Given the description of an element on the screen output the (x, y) to click on. 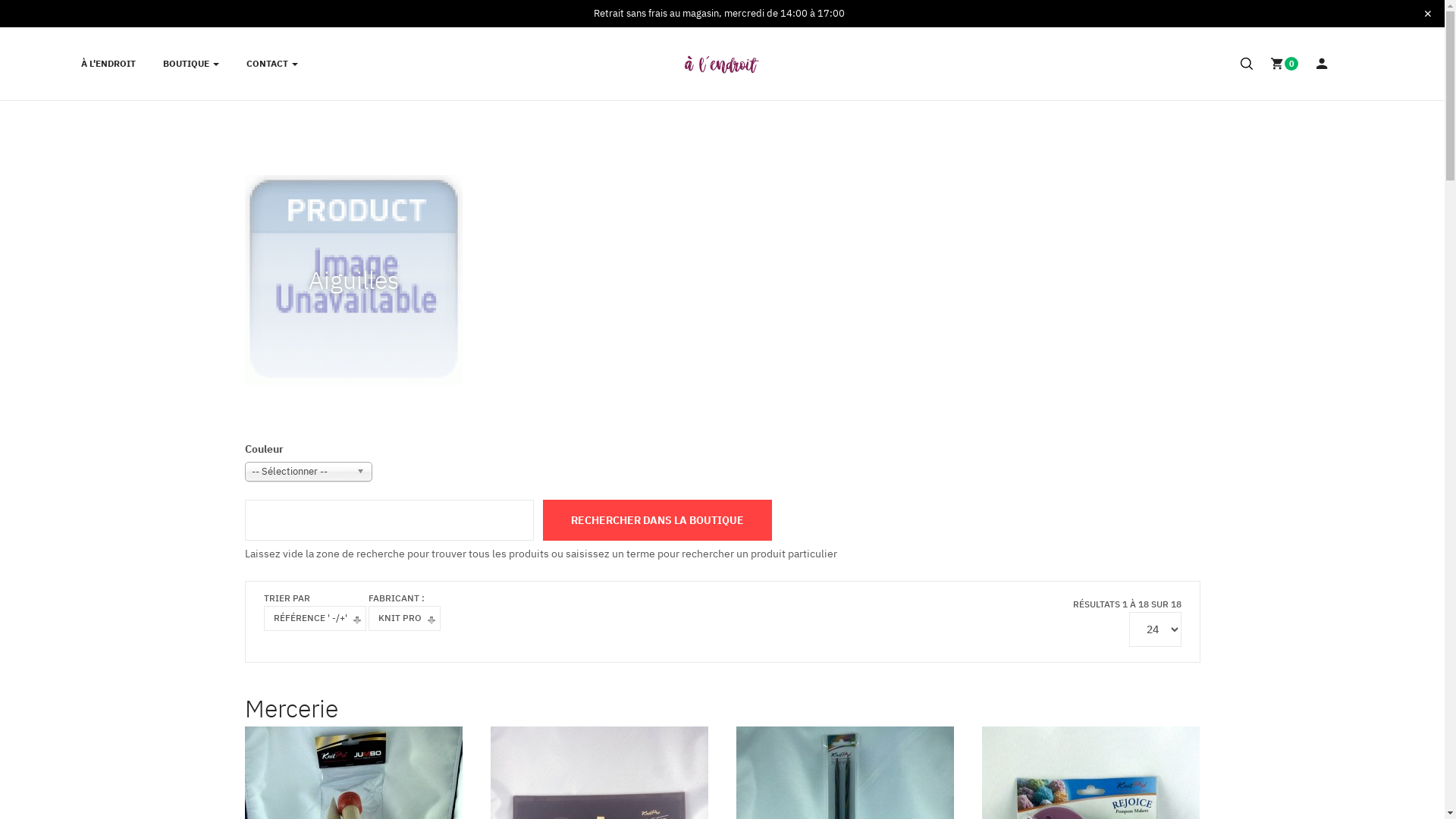
CONTACT Element type: text (271, 63)
BOUTIQUE Element type: text (190, 63)
Rechercher dans la boutique Element type: text (656, 519)
Aiguilles Element type: text (353, 278)
0 Element type: text (1284, 63)
